Given the description of an element on the screen output the (x, y) to click on. 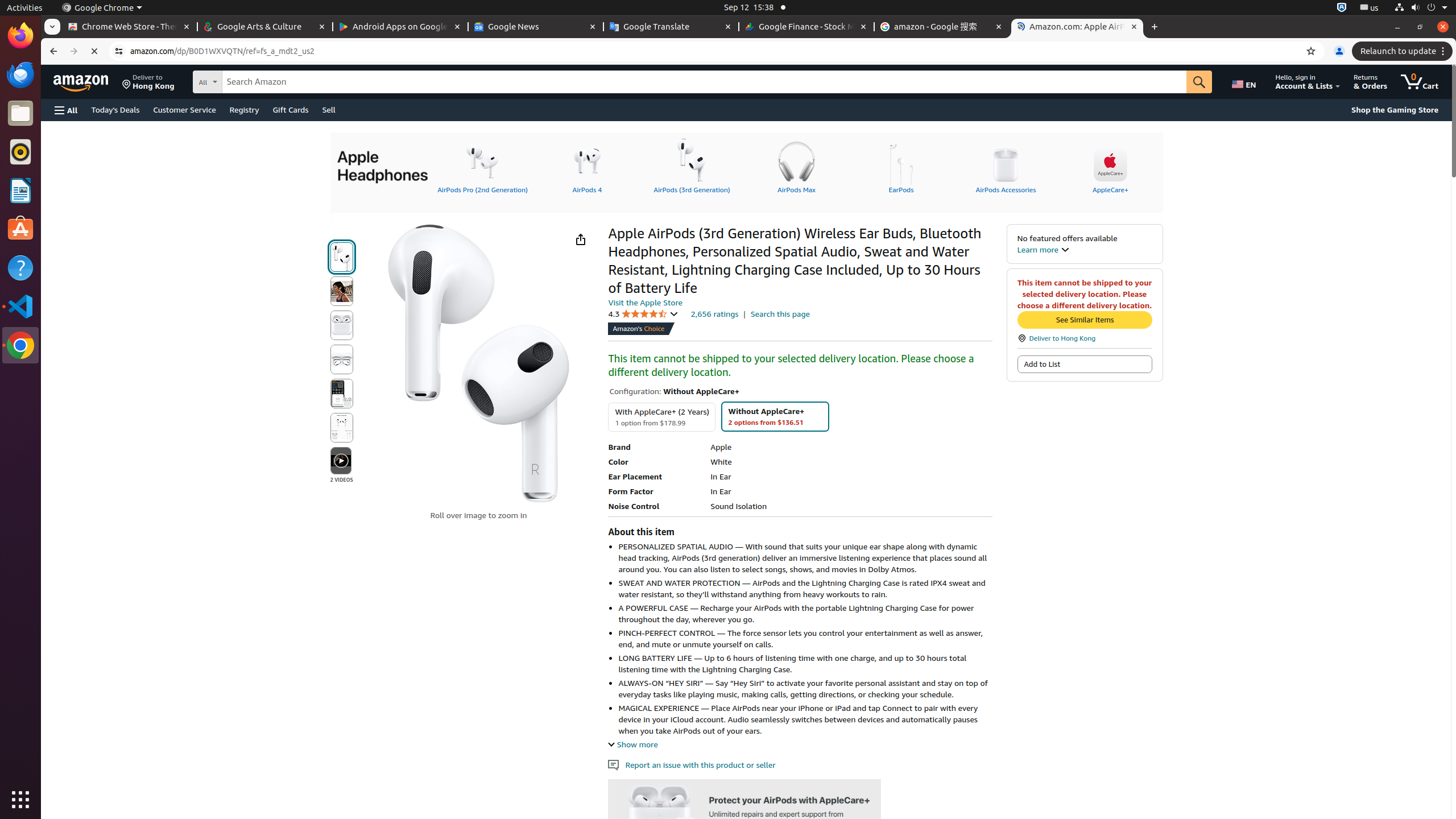
Reload Element type: push-button (94, 50)
System Element type: menu (1420, 7)
Returns & Orders Element type: link (1370, 81)
Gift Cards Element type: link (290, 109)
Ubuntu Software Element type: push-button (20, 229)
